Given the description of an element on the screen output the (x, y) to click on. 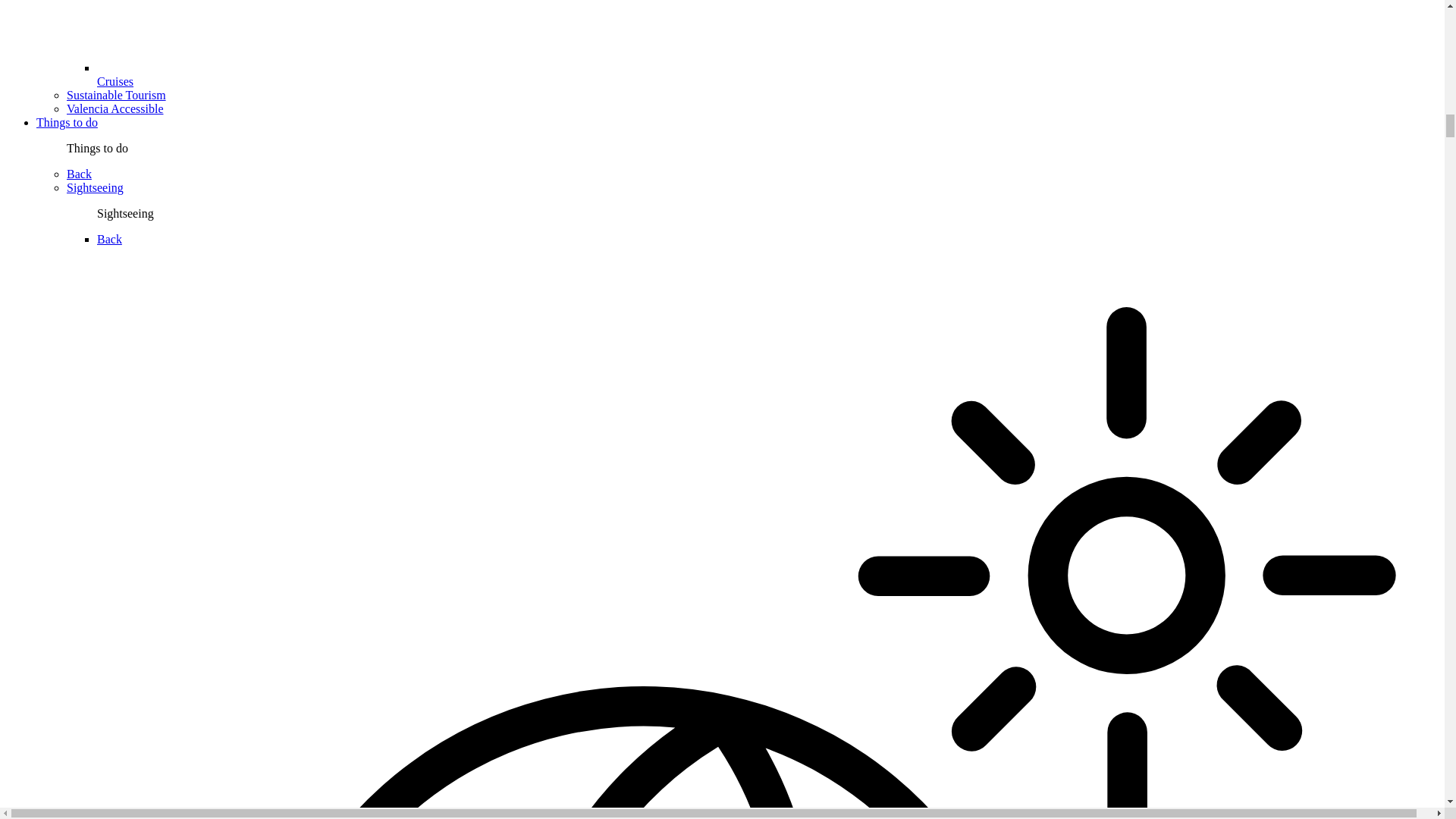
Valencia Accessible (114, 108)
Sustainable Tourism (115, 94)
Back (109, 238)
Back (78, 173)
Cruises (115, 81)
Cruceros (767, 36)
Sightseeing (94, 187)
Things to do (66, 122)
